Given the description of an element on the screen output the (x, y) to click on. 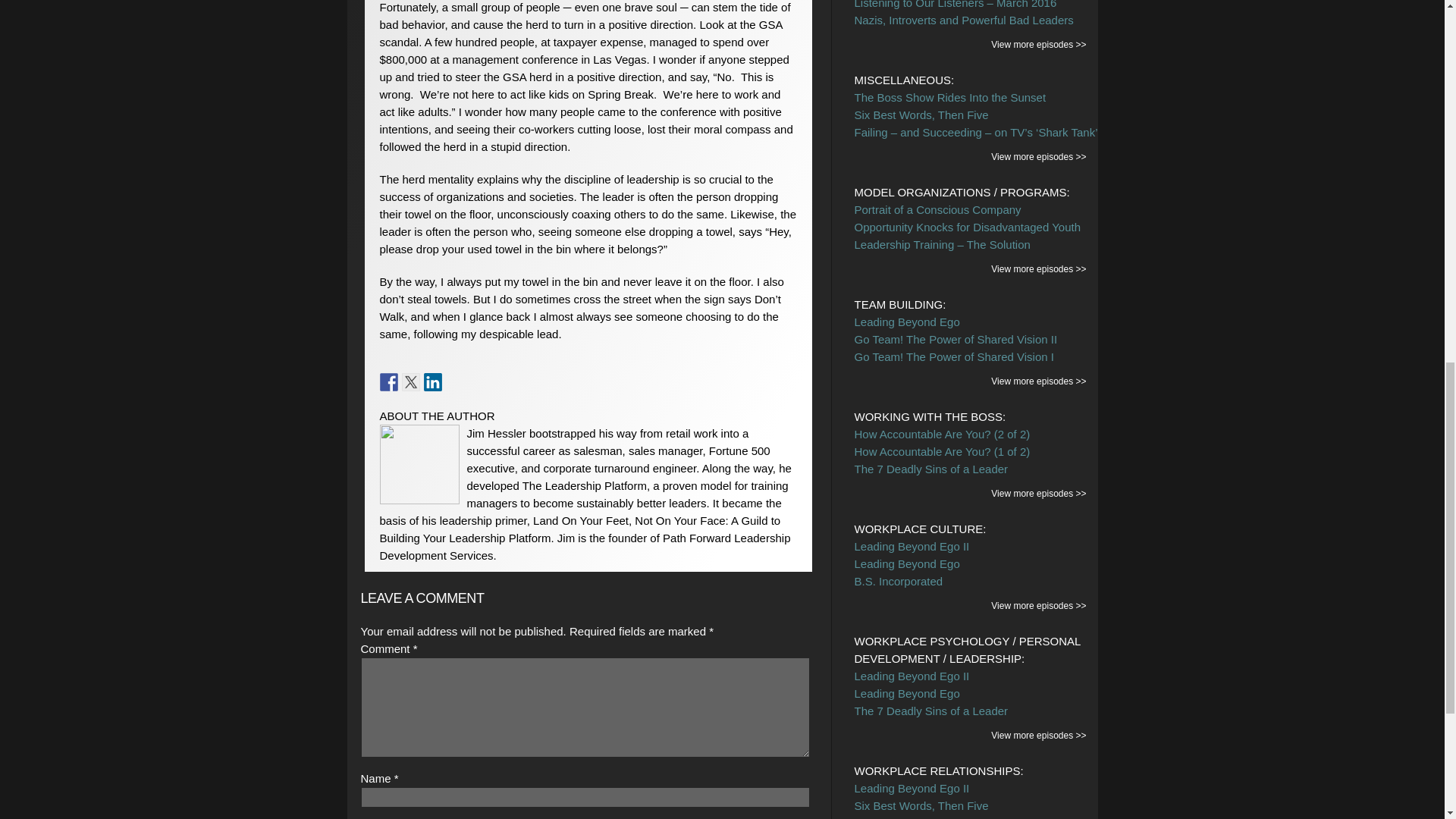
Share on Facebook (387, 382)
Share on Twitter (410, 382)
Share on Linkedin (432, 382)
